Given the description of an element on the screen output the (x, y) to click on. 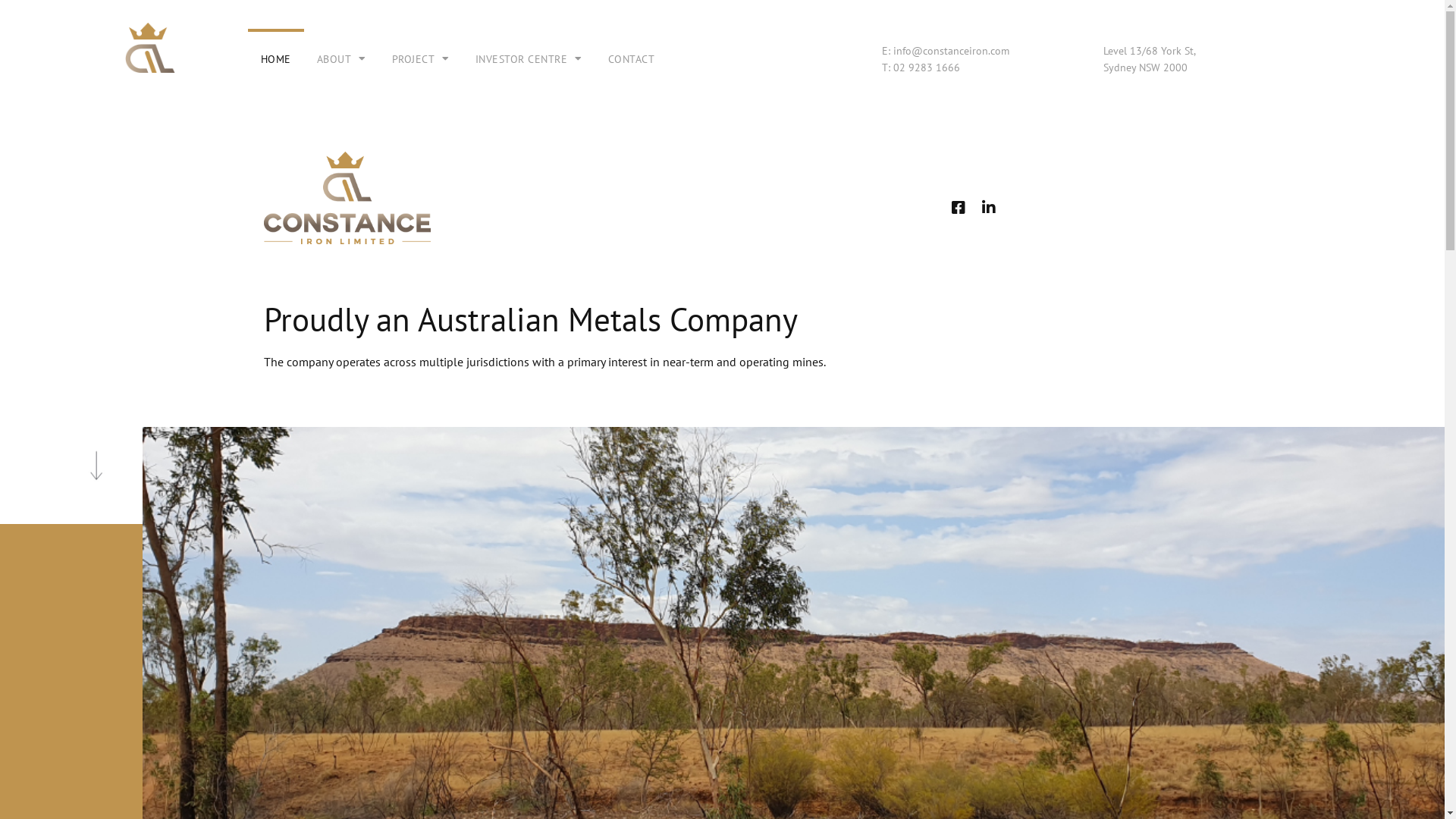
ABOUT Element type: text (341, 58)
INVESTOR CENTRE Element type: text (528, 58)
CONTACT Element type: text (631, 58)
PROJECT Element type: text (420, 58)
HOME Element type: text (275, 58)
